Given the description of an element on the screen output the (x, y) to click on. 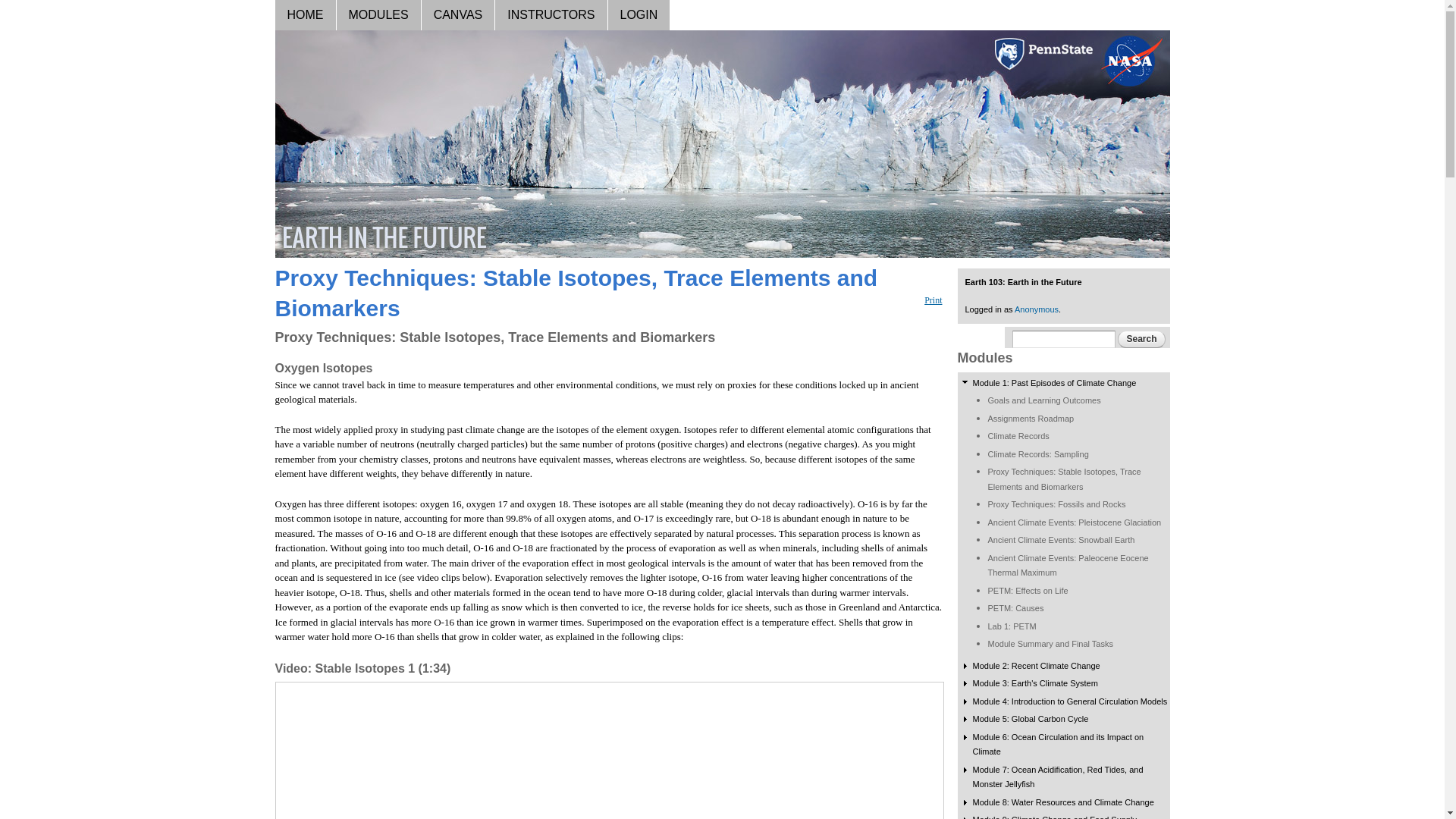
Ancient Climate Events: Paleocene Eocene Thermal Maximum (1067, 565)
Module 2: Recent Climate Change (1035, 665)
Search (1141, 339)
Module 9: Climate Change and Food Supply (1053, 816)
Goals and Learning Outcomes (1043, 399)
Climate Records (1017, 435)
Assignments Roadmap (1030, 418)
Display a printer-friendly version of this page. (933, 299)
Canvas Learning Management System (459, 15)
